Given the description of an element on the screen output the (x, y) to click on. 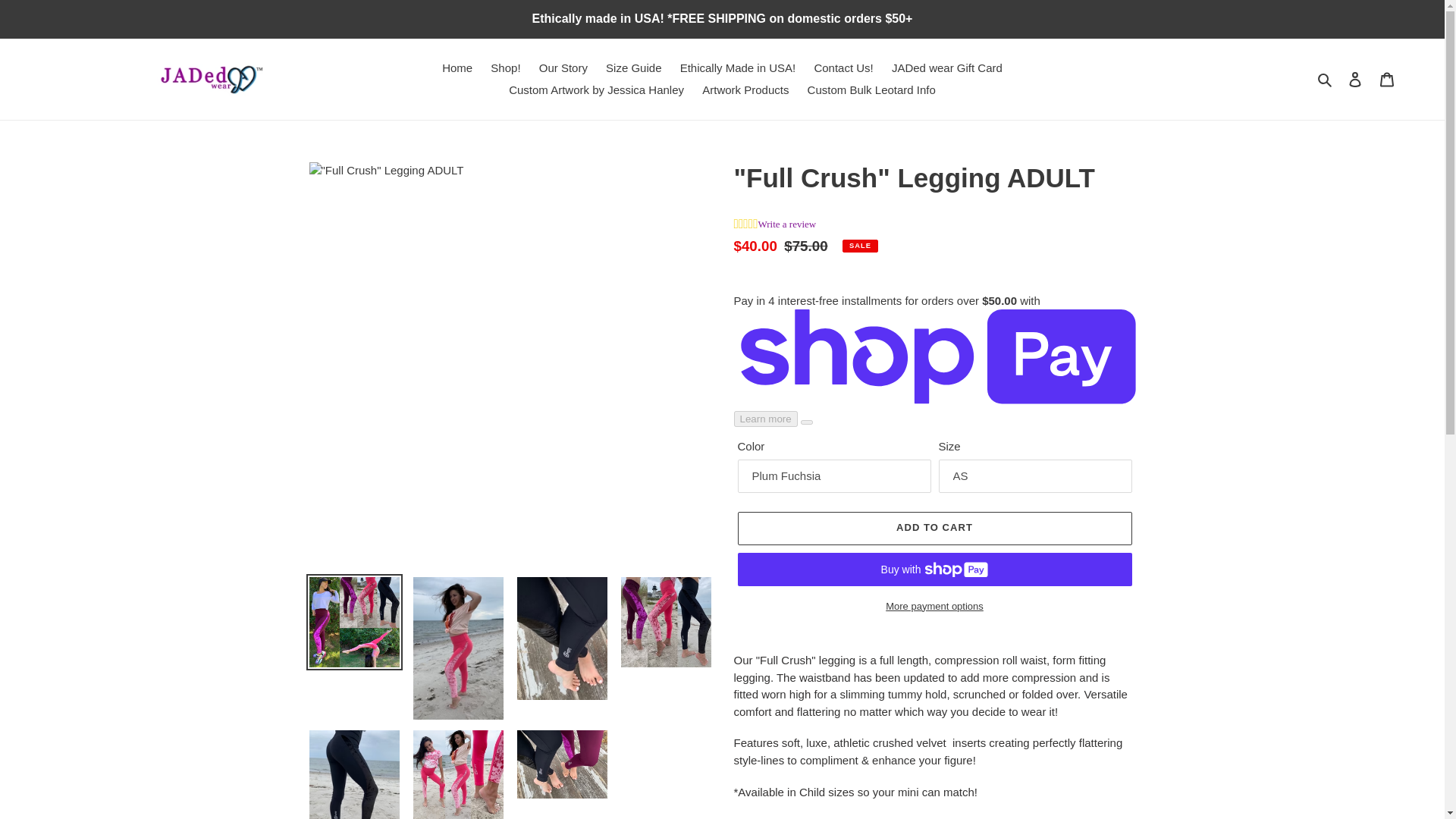
Artwork Products (745, 89)
Our Story (563, 68)
Custom Artwork by Jessica Hanley (595, 89)
Search (1326, 78)
Shop! (505, 68)
Custom Bulk Leotard Info (871, 89)
Log in (1355, 79)
Size Guide (633, 68)
Cart (1387, 79)
JADed wear Gift Card (946, 68)
